Given the description of an element on the screen output the (x, y) to click on. 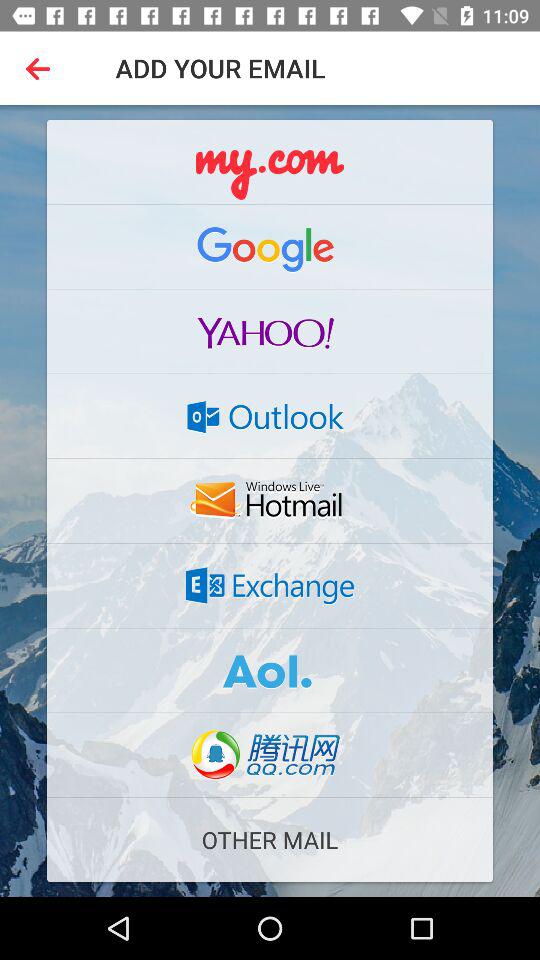
select option (269, 670)
